Given the description of an element on the screen output the (x, y) to click on. 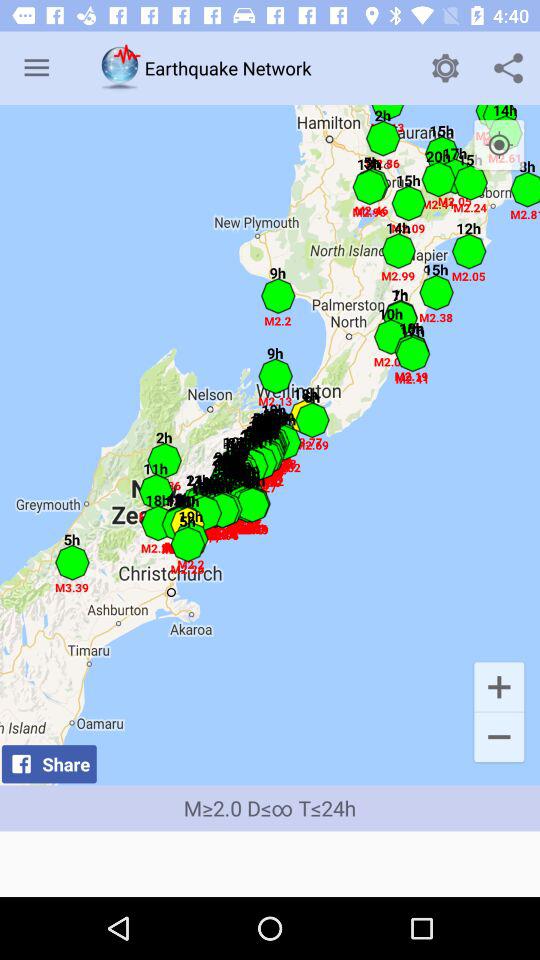
click the icon above the m 2 0 (270, 445)
